Given the description of an element on the screen output the (x, y) to click on. 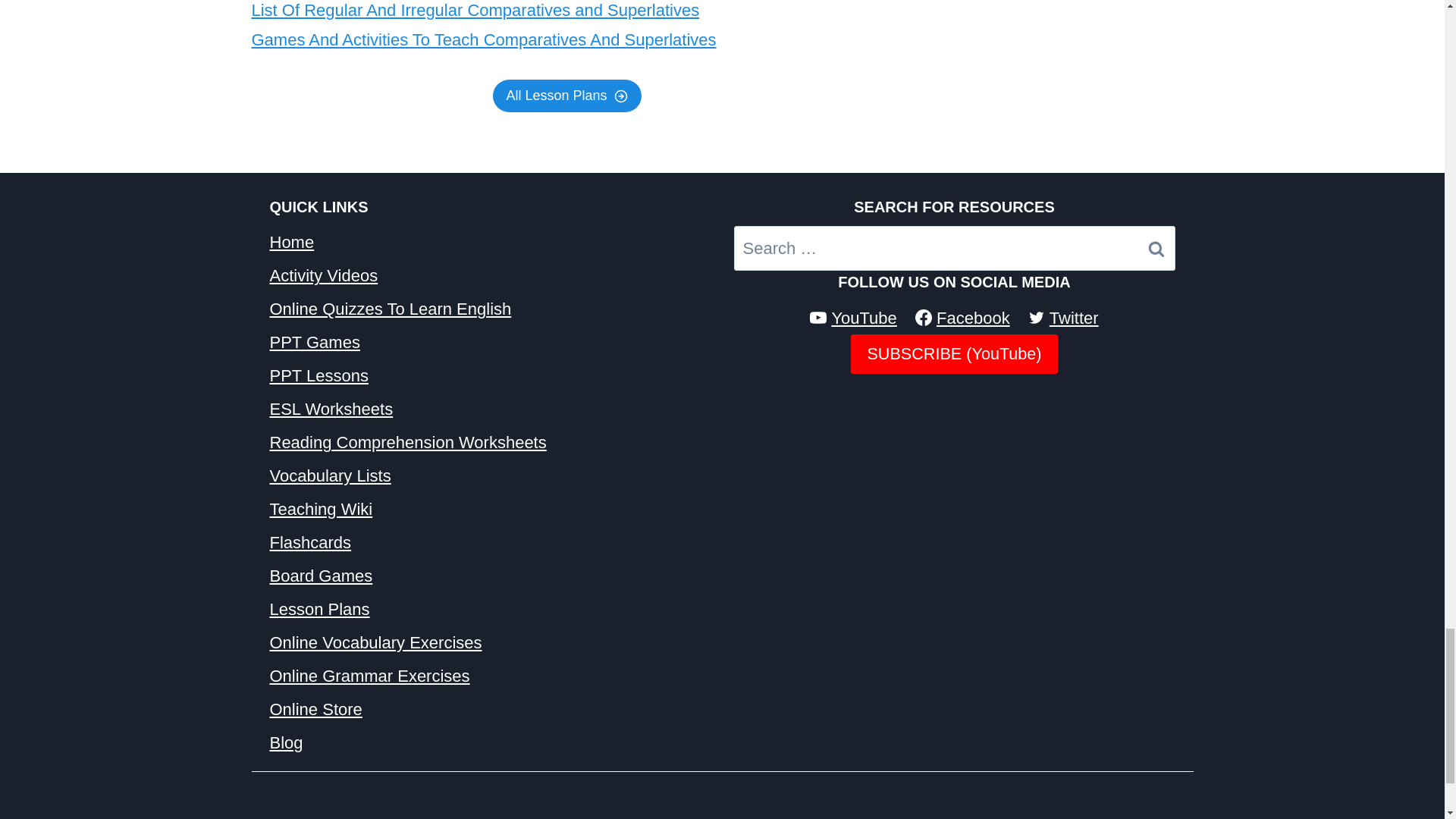
List Of Regular And Irregular Comparatives and Superlatives (475, 9)
Games And Activities To Teach Comparatives And Superlatives (483, 39)
